Given the description of an element on the screen output the (x, y) to click on. 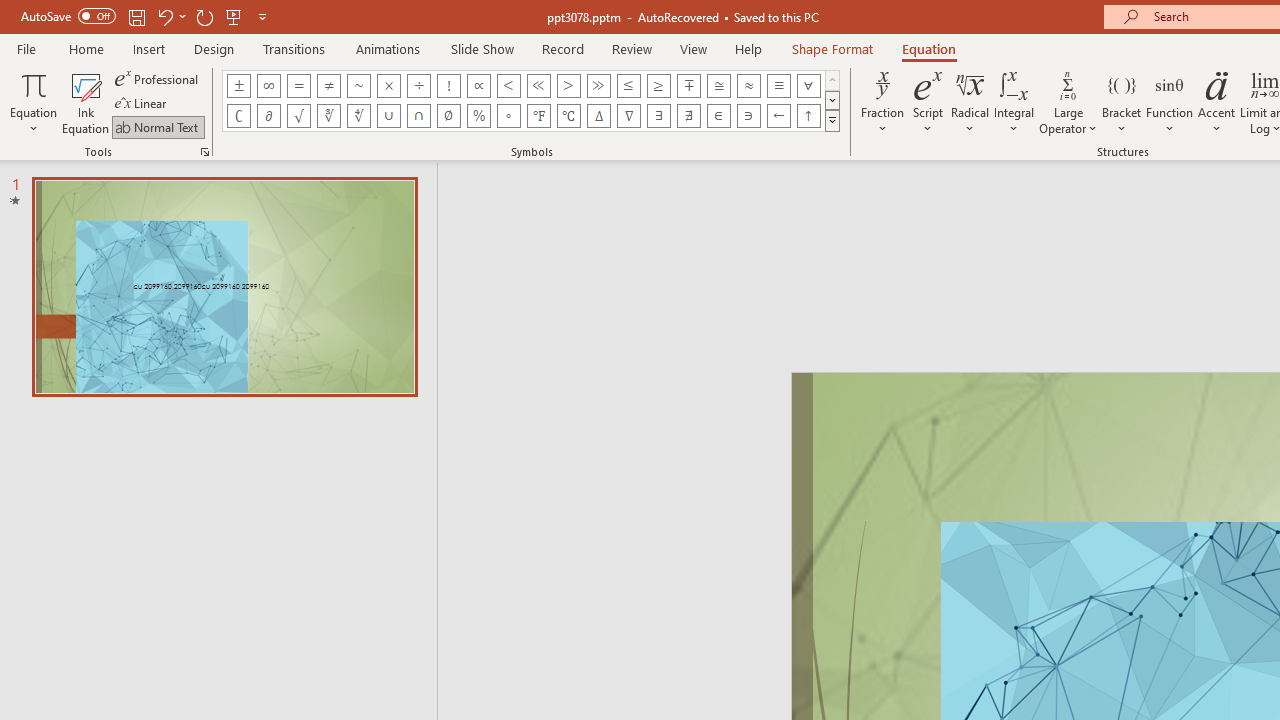
Professional (158, 78)
Equation Symbol Degrees (508, 115)
Fraction (882, 102)
Radical (970, 102)
Equation Symbol Greater Than (568, 85)
Equation Symbol Approximately Equal To (718, 85)
Equation Symbol Almost Equal To (Asymptotic To) (748, 85)
Equation Symbol Not Equal To (328, 85)
Script (927, 102)
Equation Symbol There Does Not Exist (689, 115)
Equation Symbol Fourth Root (358, 115)
